Given the description of an element on the screen output the (x, y) to click on. 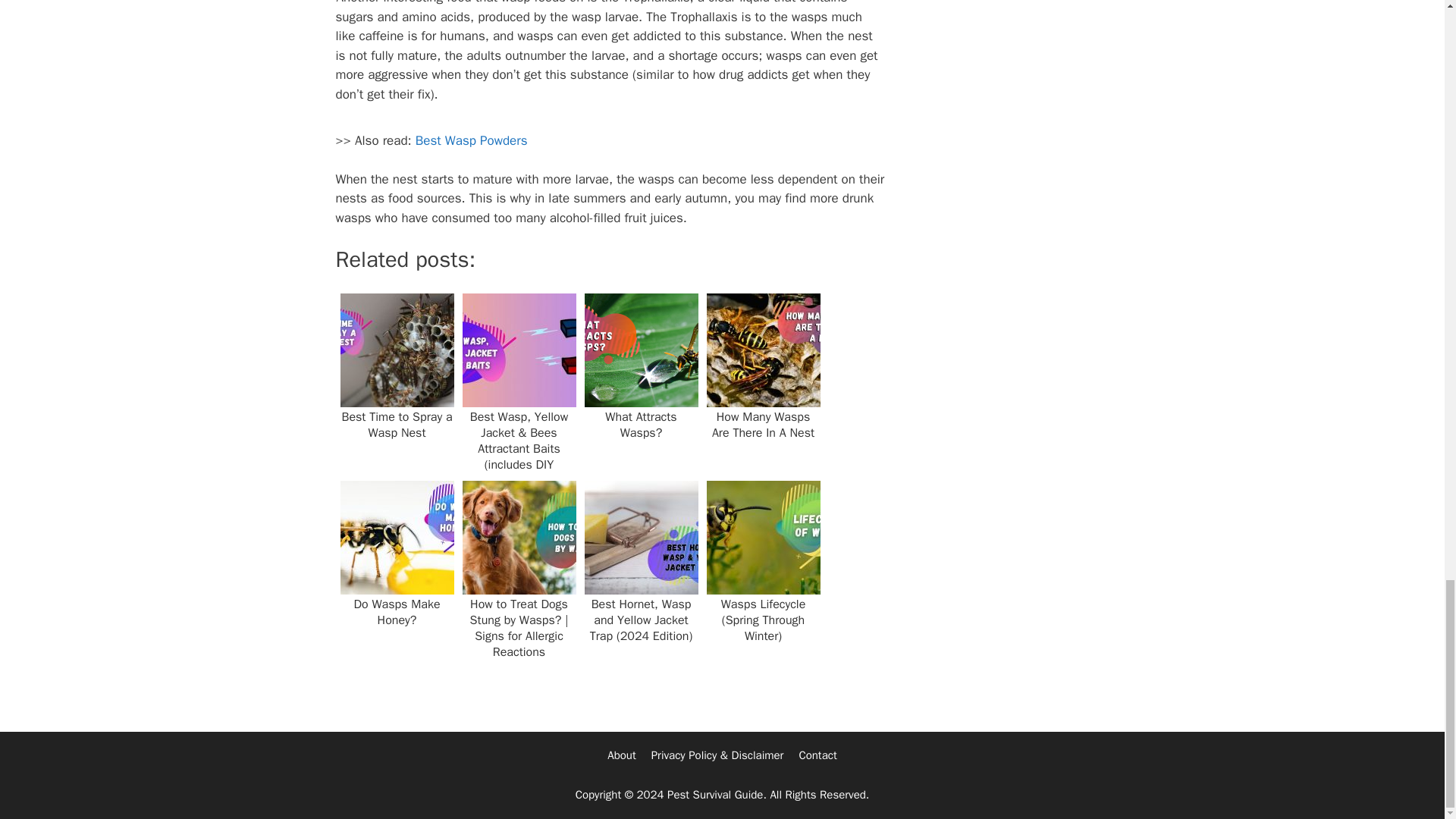
Best Wasp Powders (470, 140)
Best Time to Spray a Wasp Nest (396, 380)
Do Wasps Make Honey? (396, 567)
About (620, 755)
How Many Wasps Are There In A Nest (763, 380)
What Attracts Wasps? (640, 380)
